Given the description of an element on the screen output the (x, y) to click on. 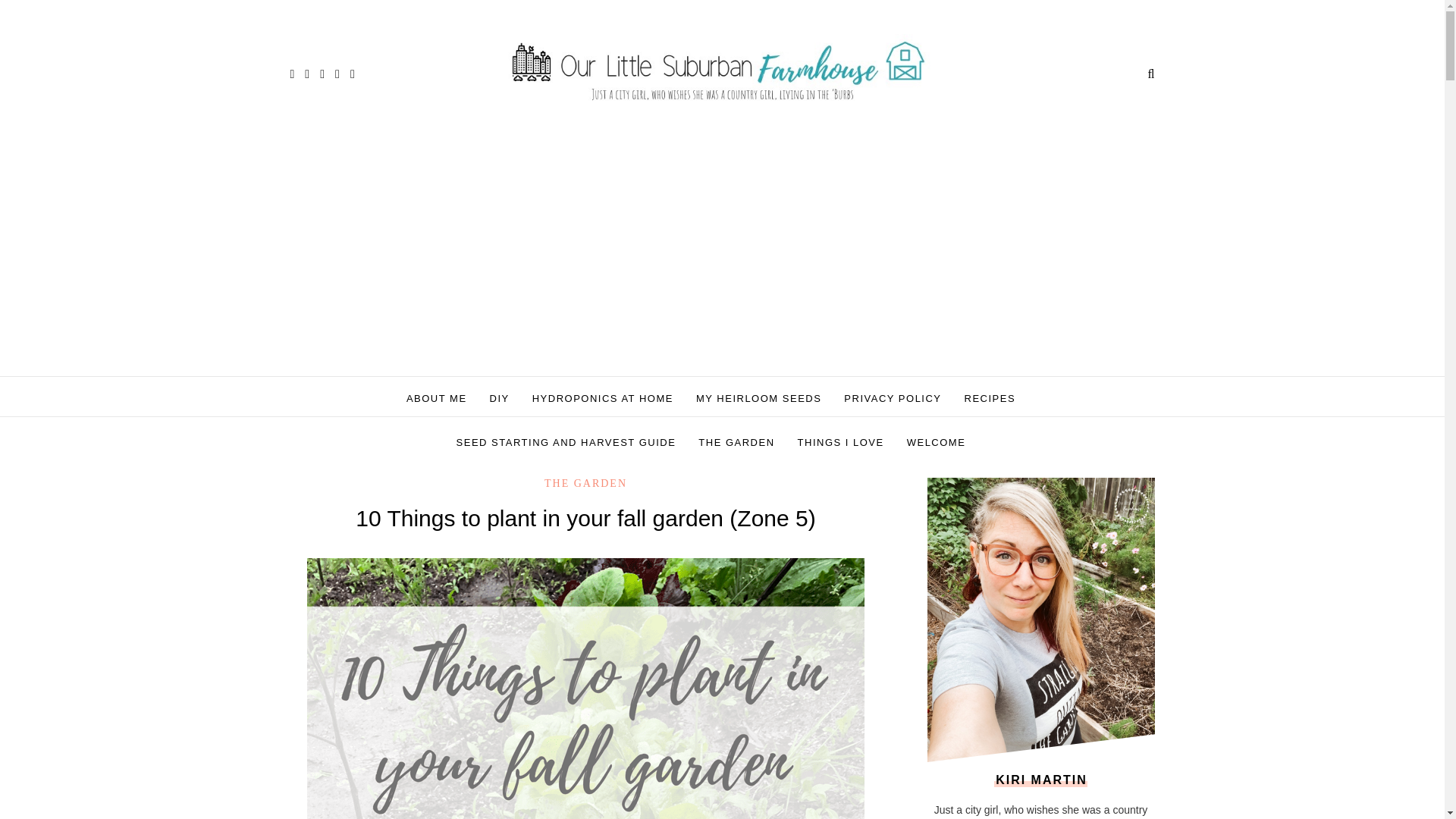
ABOUT ME (436, 398)
THE GARDEN (736, 442)
SEED STARTING AND HARVEST GUIDE (567, 442)
HYDROPONICS AT HOME (602, 398)
THE GARDEN (585, 482)
PRIVACY POLICY (892, 398)
MY HEIRLOOM SEEDS (758, 398)
RECIPES (989, 398)
WELCOME (936, 442)
THINGS I LOVE (840, 442)
